Given the description of an element on the screen output the (x, y) to click on. 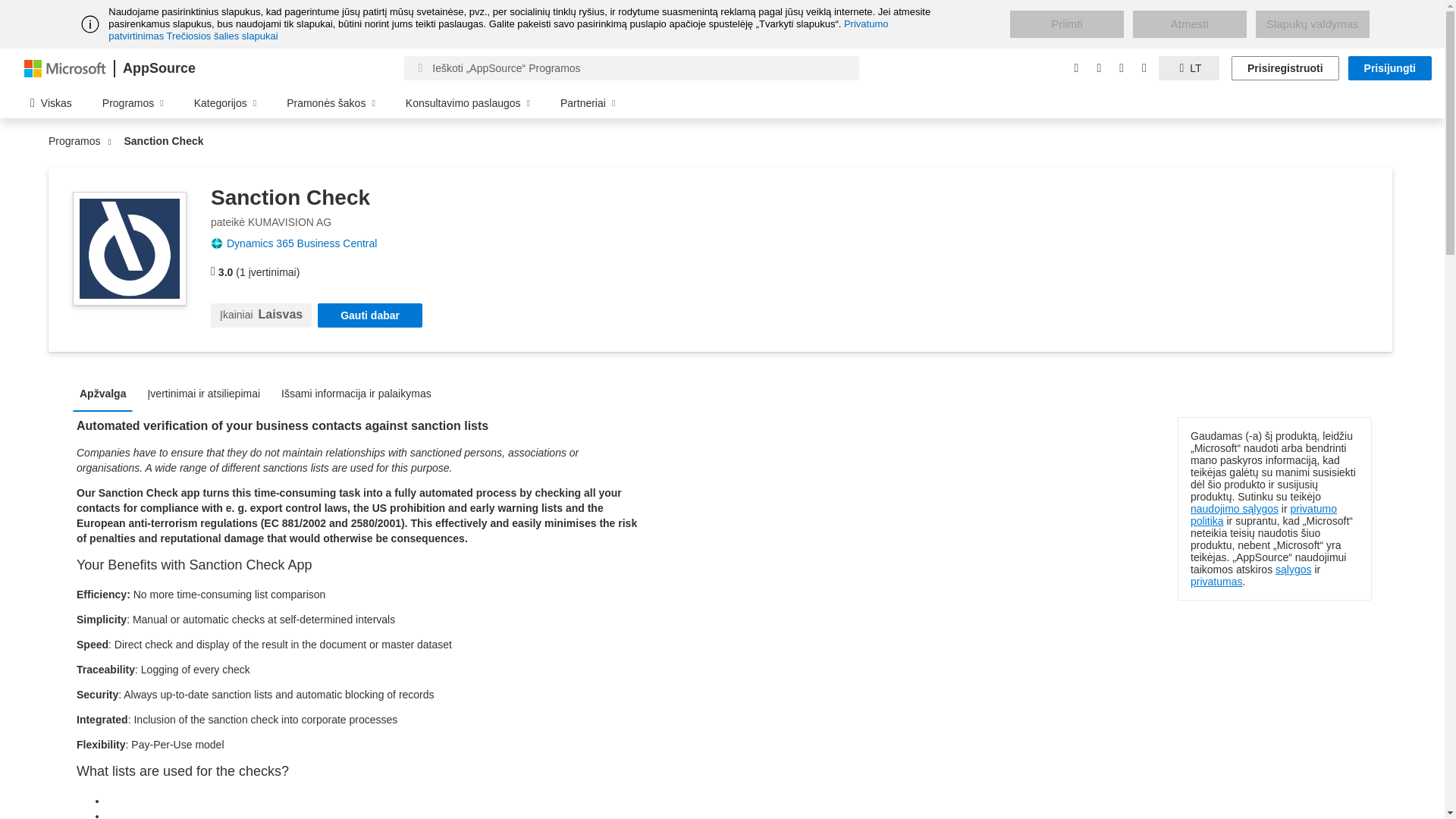
Microsoft (65, 67)
Gauti dabar (369, 315)
Privatumo patvirtinimas (497, 29)
Prisiregistruoti (1285, 68)
Priimti (1067, 23)
Prisijungti (1389, 68)
Dynamics 365 Business Central (307, 243)
Atmesti (1189, 23)
Dynamics 365 Business Central (307, 243)
Programos (77, 141)
AppSource (158, 67)
